Given the description of an element on the screen output the (x, y) to click on. 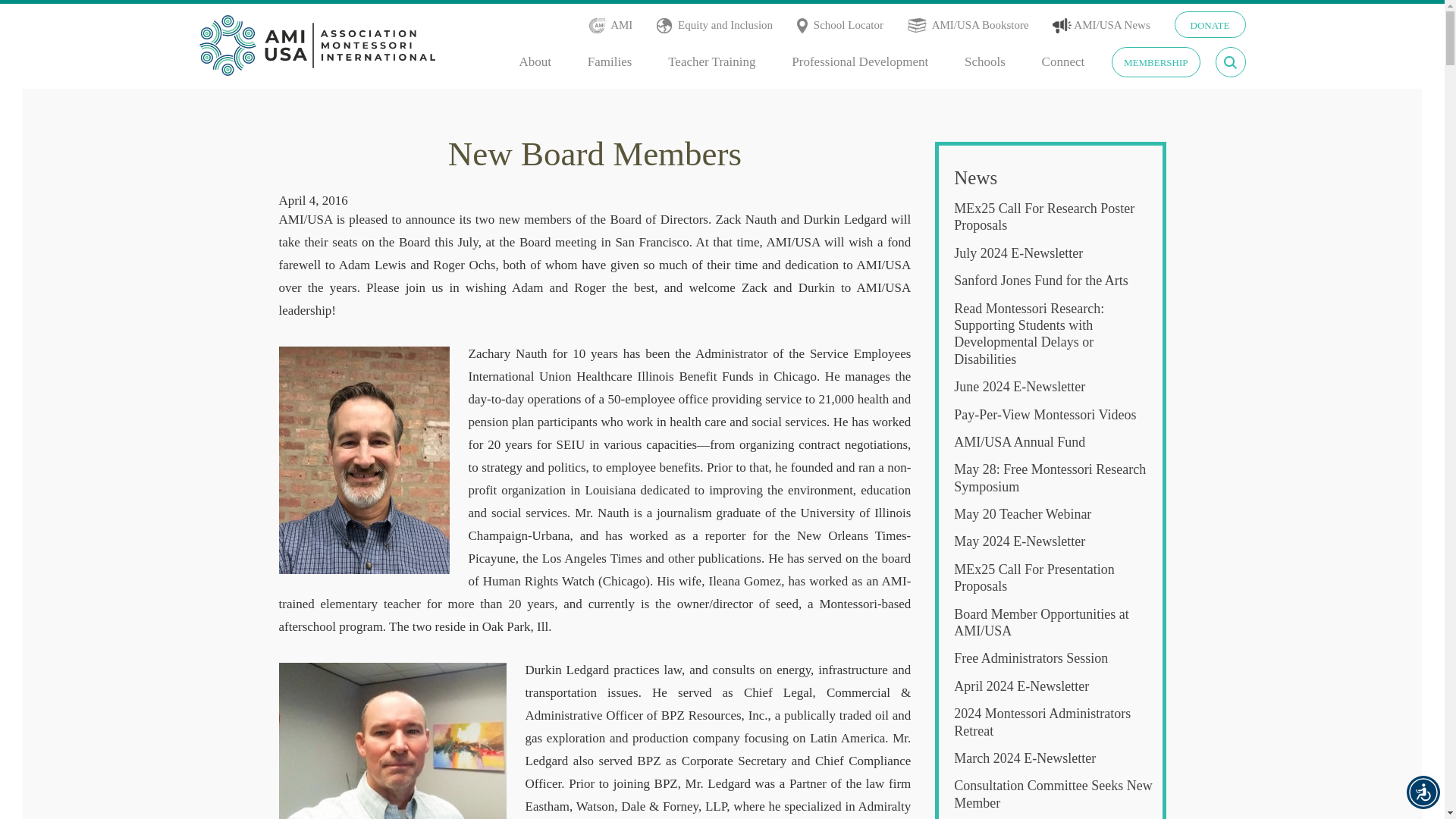
DONATE (1208, 24)
Accessibility Menu (1422, 792)
Professional Development (859, 61)
Teacher Training (710, 61)
School Locator (850, 24)
AMI (621, 24)
About (535, 61)
Families (609, 61)
Equity and Inclusion (724, 24)
